Given the description of an element on the screen output the (x, y) to click on. 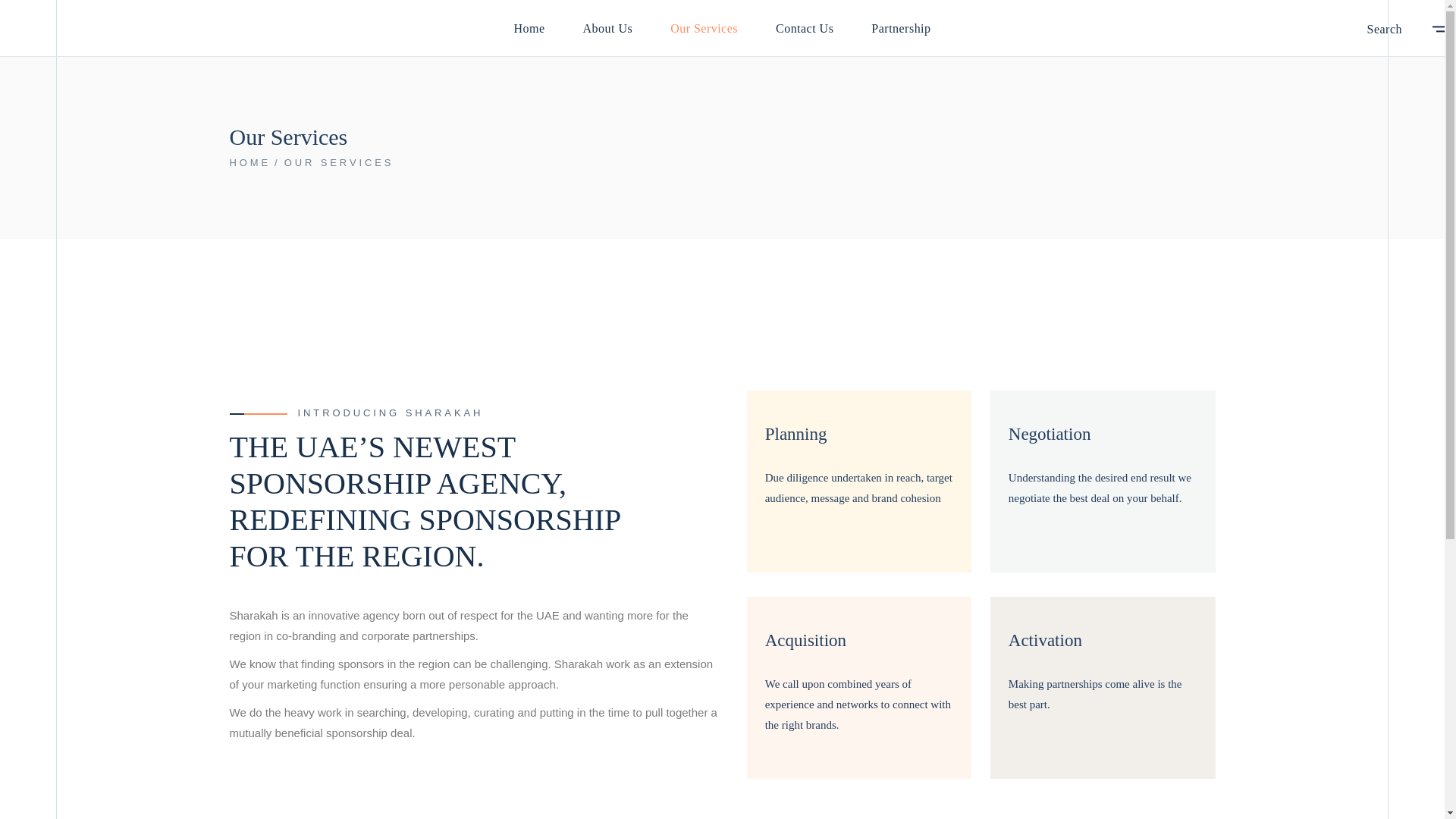
About Us (608, 28)
Search (1384, 29)
Home (529, 28)
Partnership (900, 28)
Our Services (703, 28)
HOME (249, 161)
Contact Us (804, 28)
